Given the description of an element on the screen output the (x, y) to click on. 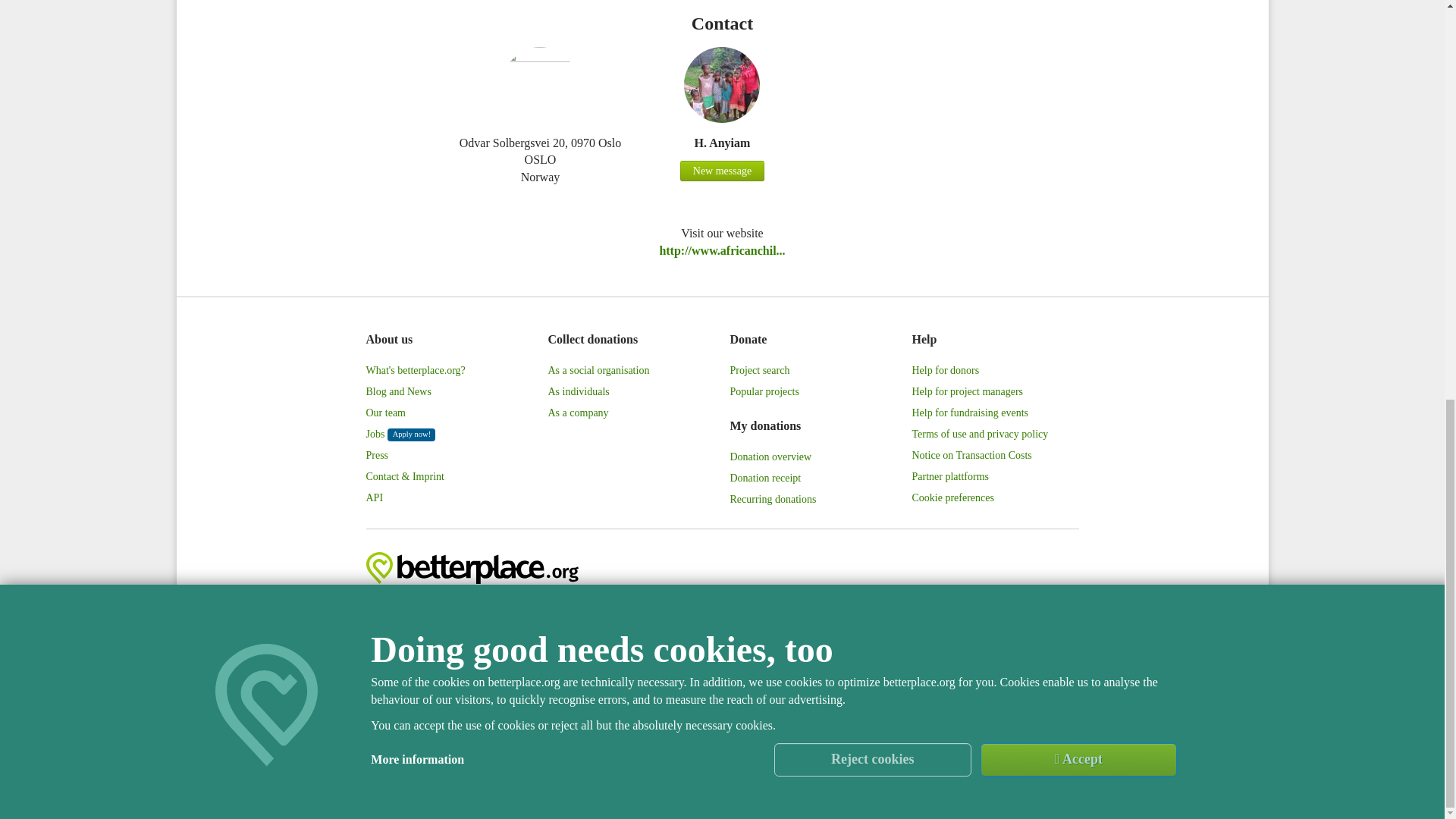
As individuals (577, 391)
Press (376, 455)
New message (721, 170)
Twitter (917, 606)
Project search (759, 370)
Help for donors (944, 370)
As a company (577, 413)
Donation receipt (764, 477)
Our team (384, 413)
What's betterplace.org? (414, 370)
LinkedIn (984, 606)
Cookie preferences (951, 497)
Blog and News (397, 391)
JobsApply now! (400, 434)
Recurring donations (772, 499)
